Given the description of an element on the screen output the (x, y) to click on. 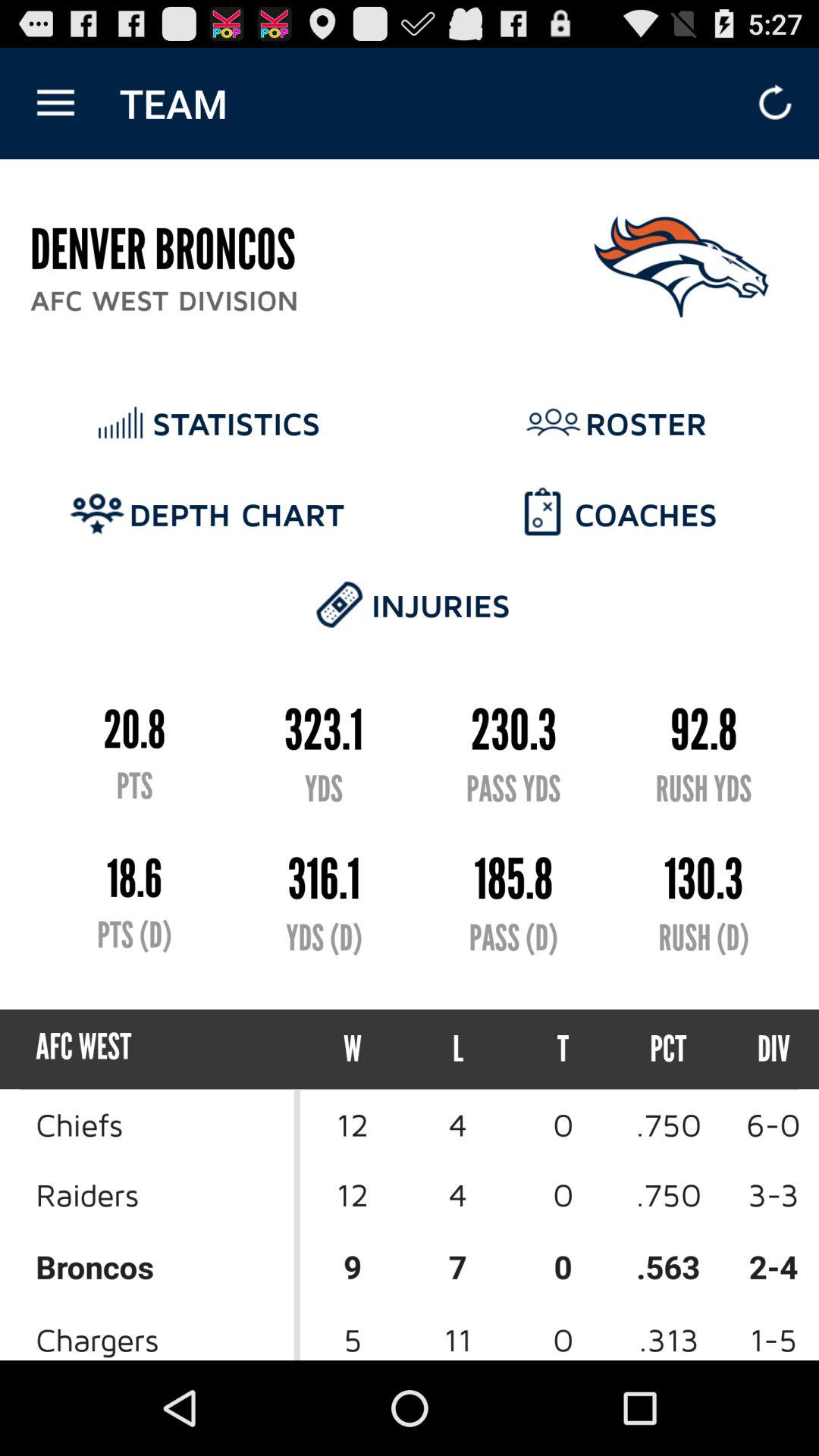
choose item to the right of the l item (562, 1049)
